Given the description of an element on the screen output the (x, y) to click on. 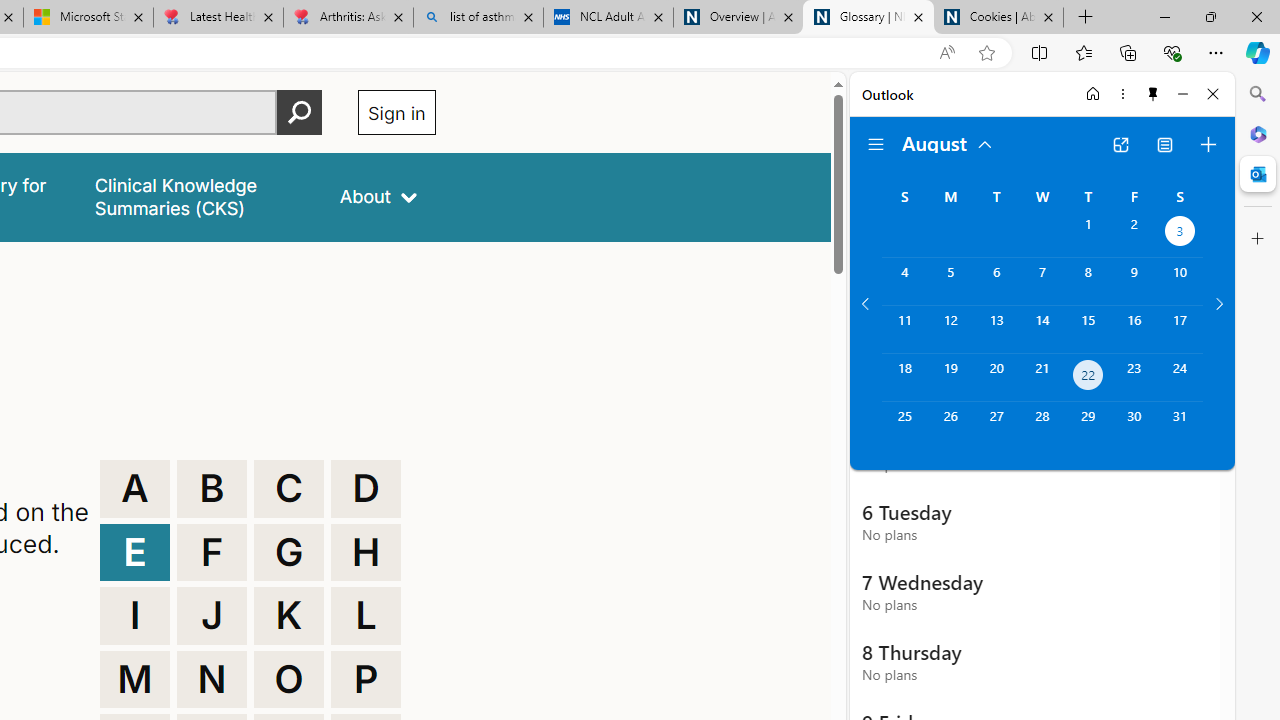
C (289, 488)
G (289, 551)
Arthritis: Ask Health Professionals (348, 17)
N (212, 679)
Sunday, August 18, 2024.  (904, 377)
Minimize (1182, 93)
Tuesday, August 13, 2024.  (996, 329)
O (289, 679)
O (289, 679)
Saturday, August 3, 2024. Date selected.  (1180, 233)
J (212, 615)
K (289, 615)
Friday, August 30, 2024.  (1134, 425)
Close Outlook pane (1258, 174)
